Given the description of an element on the screen output the (x, y) to click on. 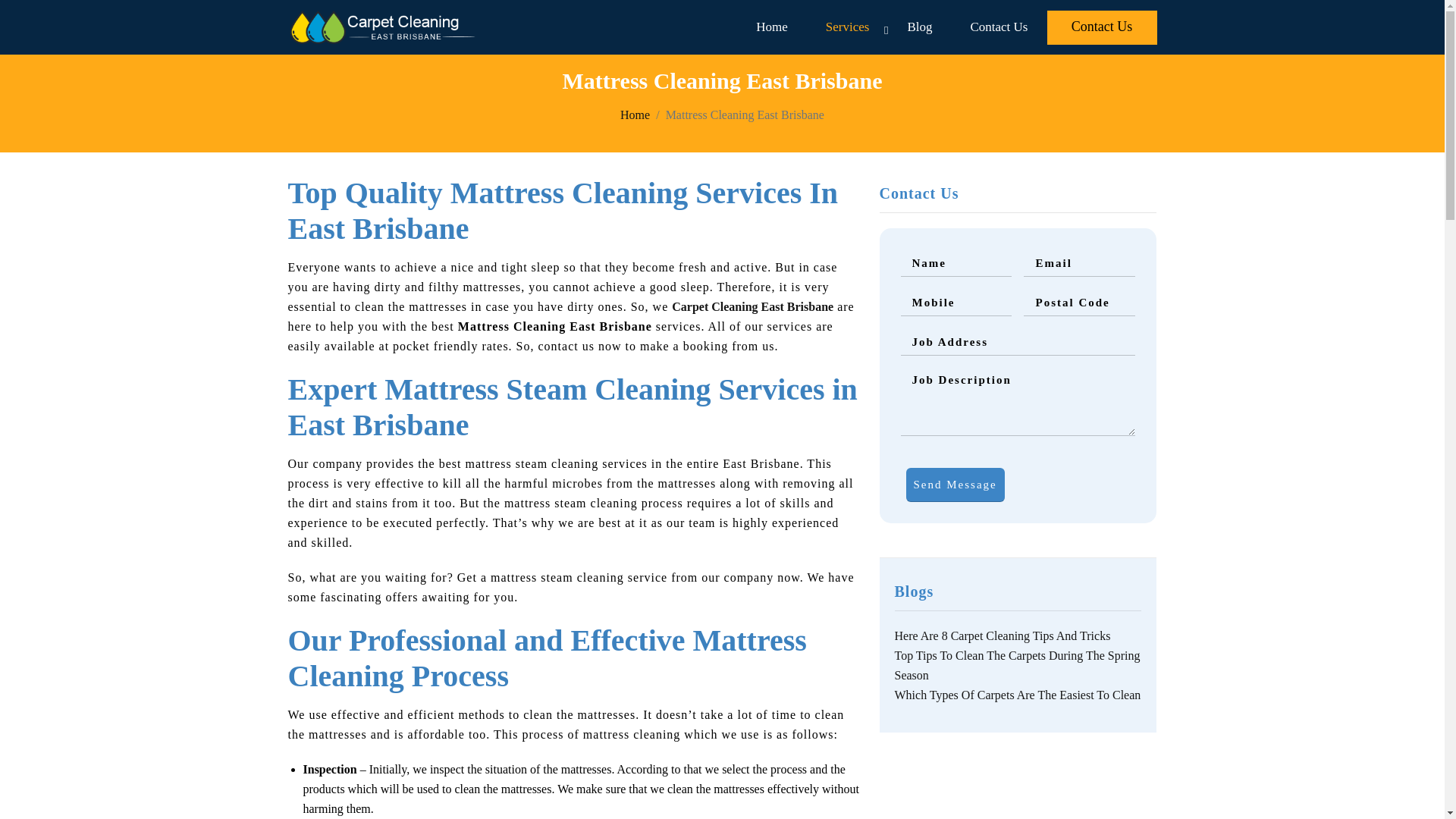
Which Types Of Carpets Are The Easiest To Clean (1018, 694)
Here Are 8 Carpet Cleaning Tips And Tricks (1002, 635)
Services (847, 27)
Top Tips To Clean The Carpets During The Spring Season (1017, 665)
Send Message (954, 484)
Contact Us (998, 27)
Carpet Cleaning East Brisbane (751, 306)
Home (634, 114)
Send Message (954, 484)
Contact Us (1101, 27)
